Given the description of an element on the screen output the (x, y) to click on. 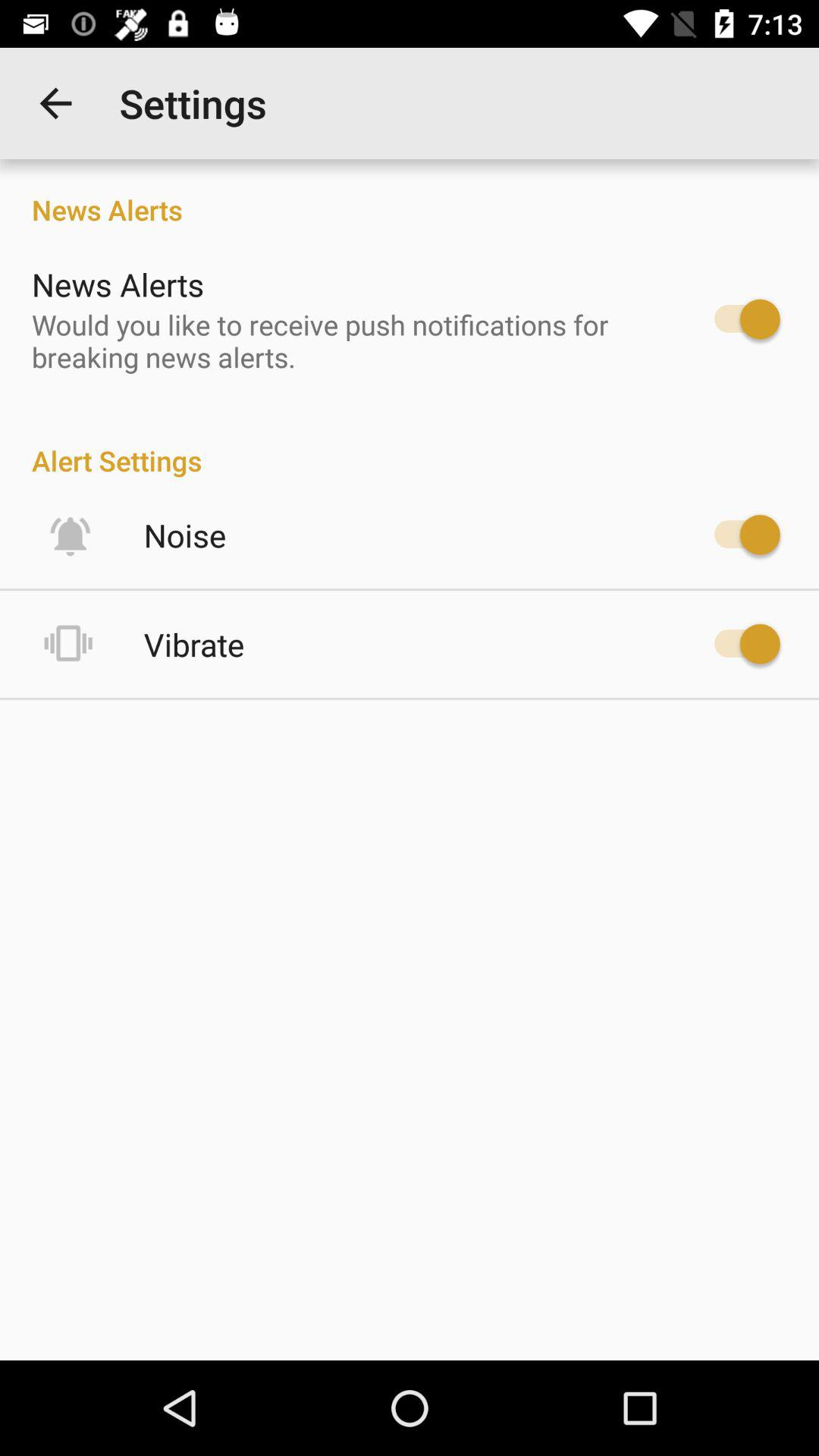
turn on icon below the news alerts item (345, 340)
